Given the description of an element on the screen output the (x, y) to click on. 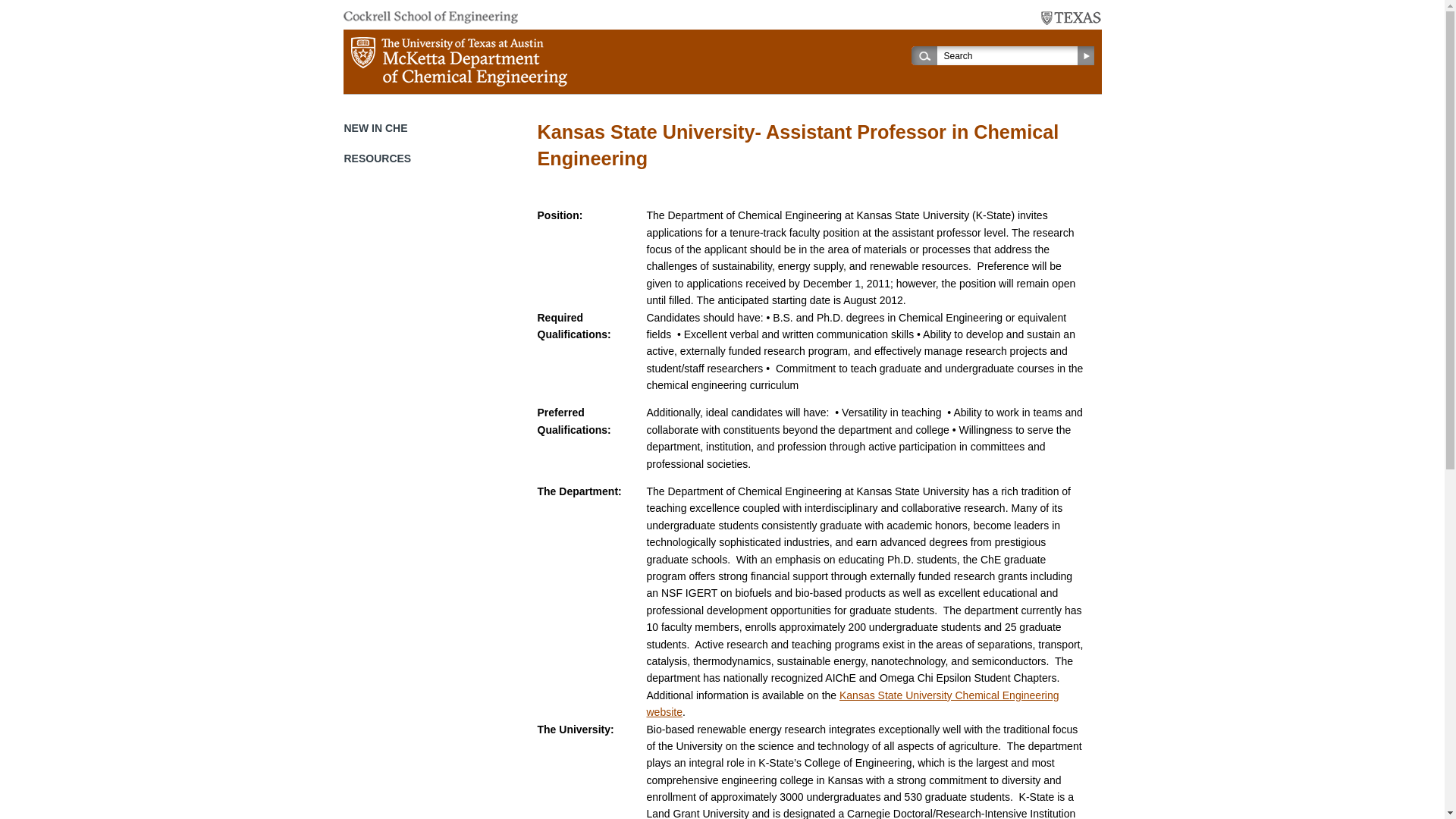
Search (1010, 54)
The University of Texas at Austin (1070, 18)
Link to Kansas State University Chemical Engineering website (852, 703)
Cockrell School of Engineering (429, 17)
Kansas State University Chemical Engineering website (852, 703)
McKetta Department of Chemical Engineering (458, 61)
Search (1010, 54)
